Given the description of an element on the screen output the (x, y) to click on. 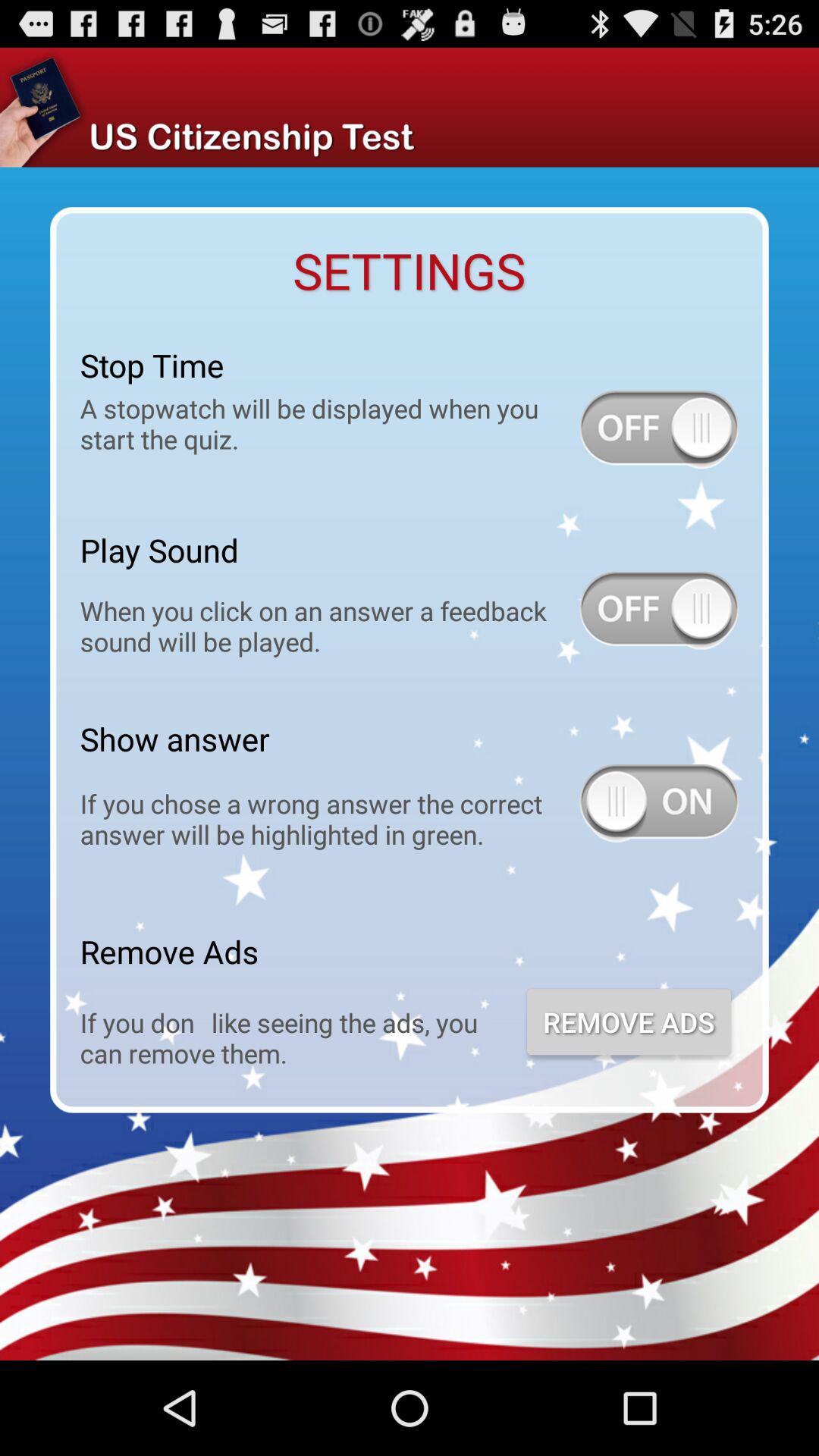
toggle stopwatch display (658, 429)
